Given the description of an element on the screen output the (x, y) to click on. 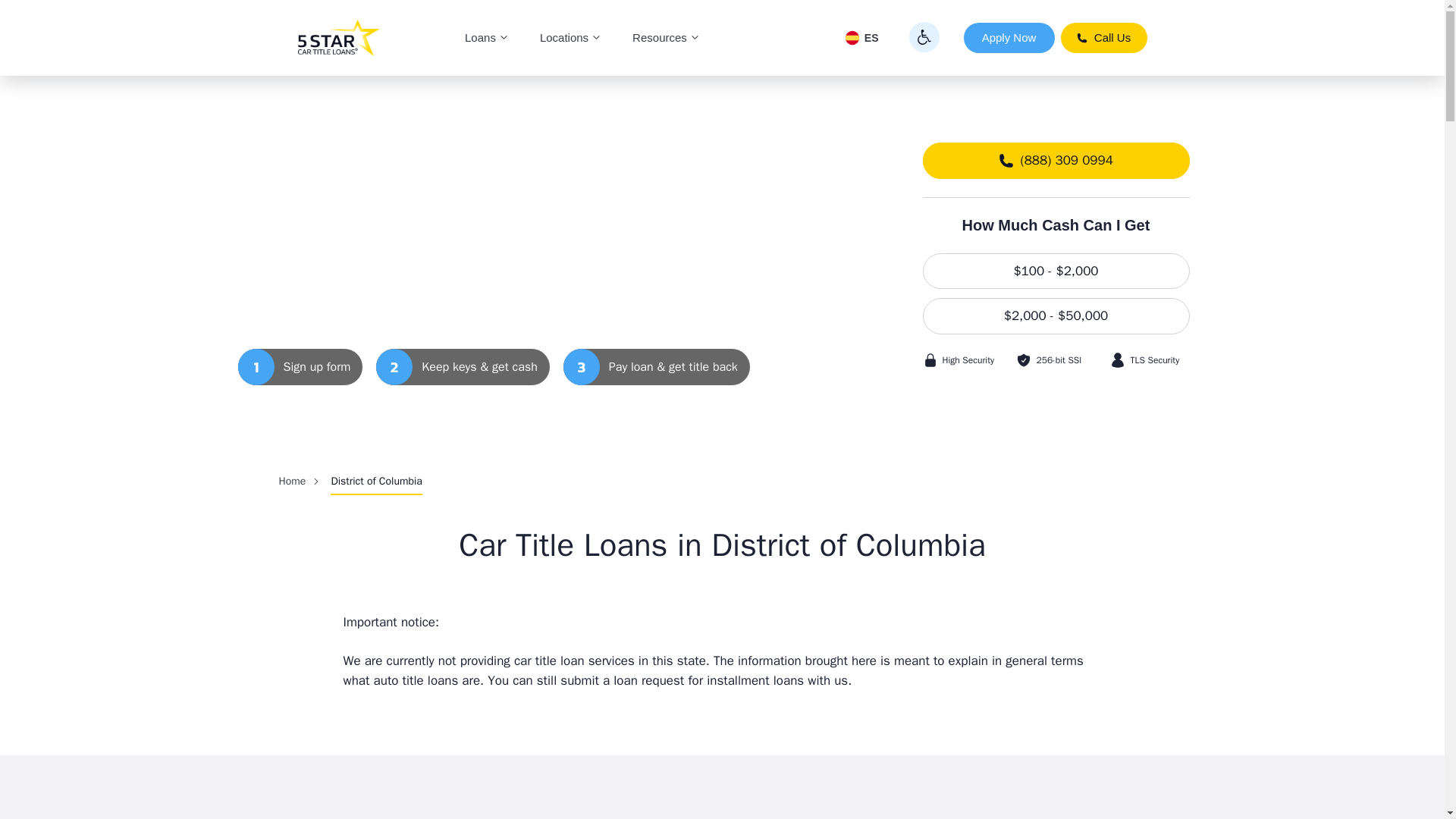
Loans (486, 37)
Home (292, 481)
Apply Now (1008, 37)
Call Us (1103, 37)
ES (861, 37)
Locations (570, 37)
Resources (666, 37)
